Given the description of an element on the screen output the (x, y) to click on. 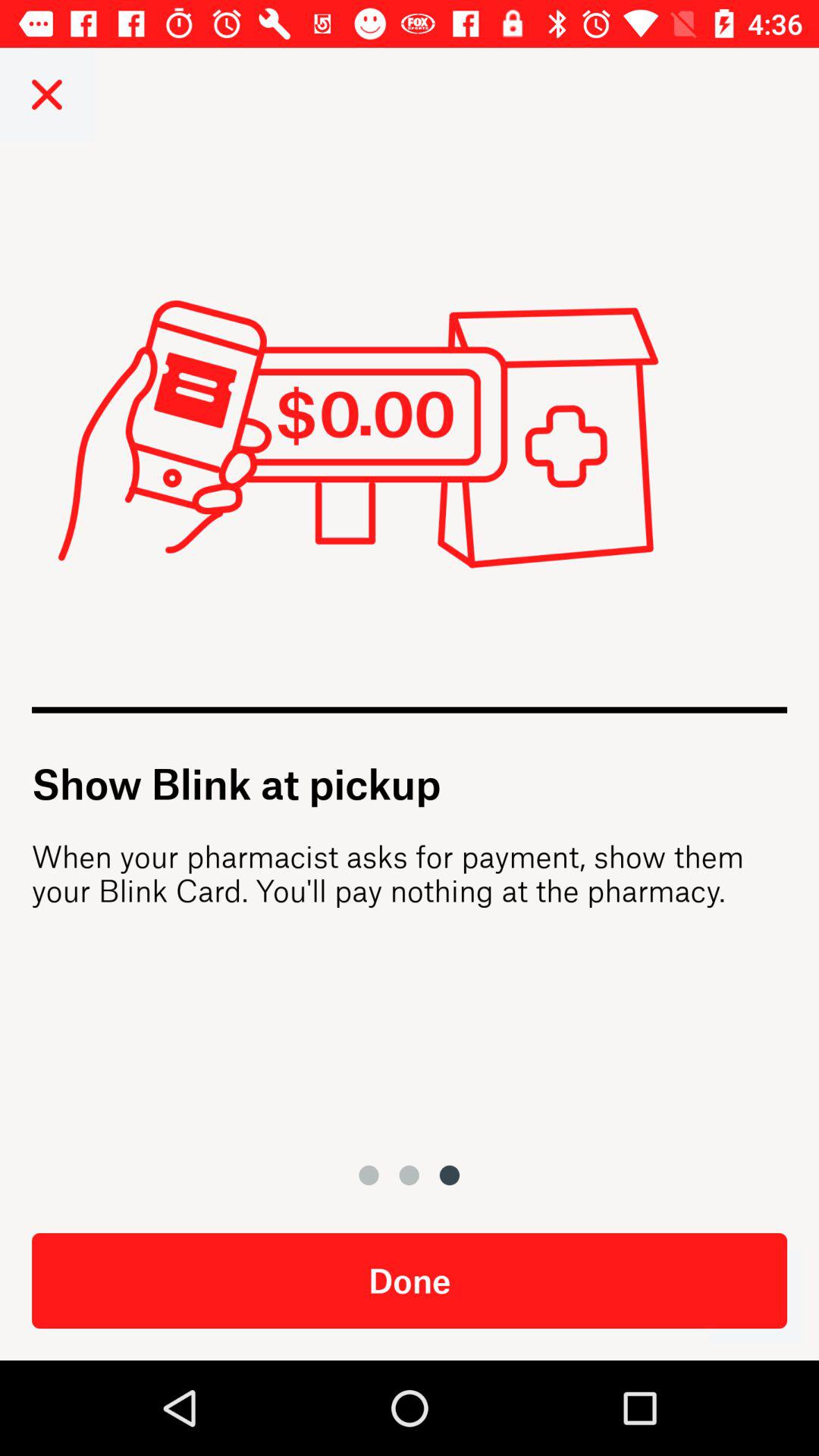
select the icon at the top left corner (46, 94)
